Given the description of an element on the screen output the (x, y) to click on. 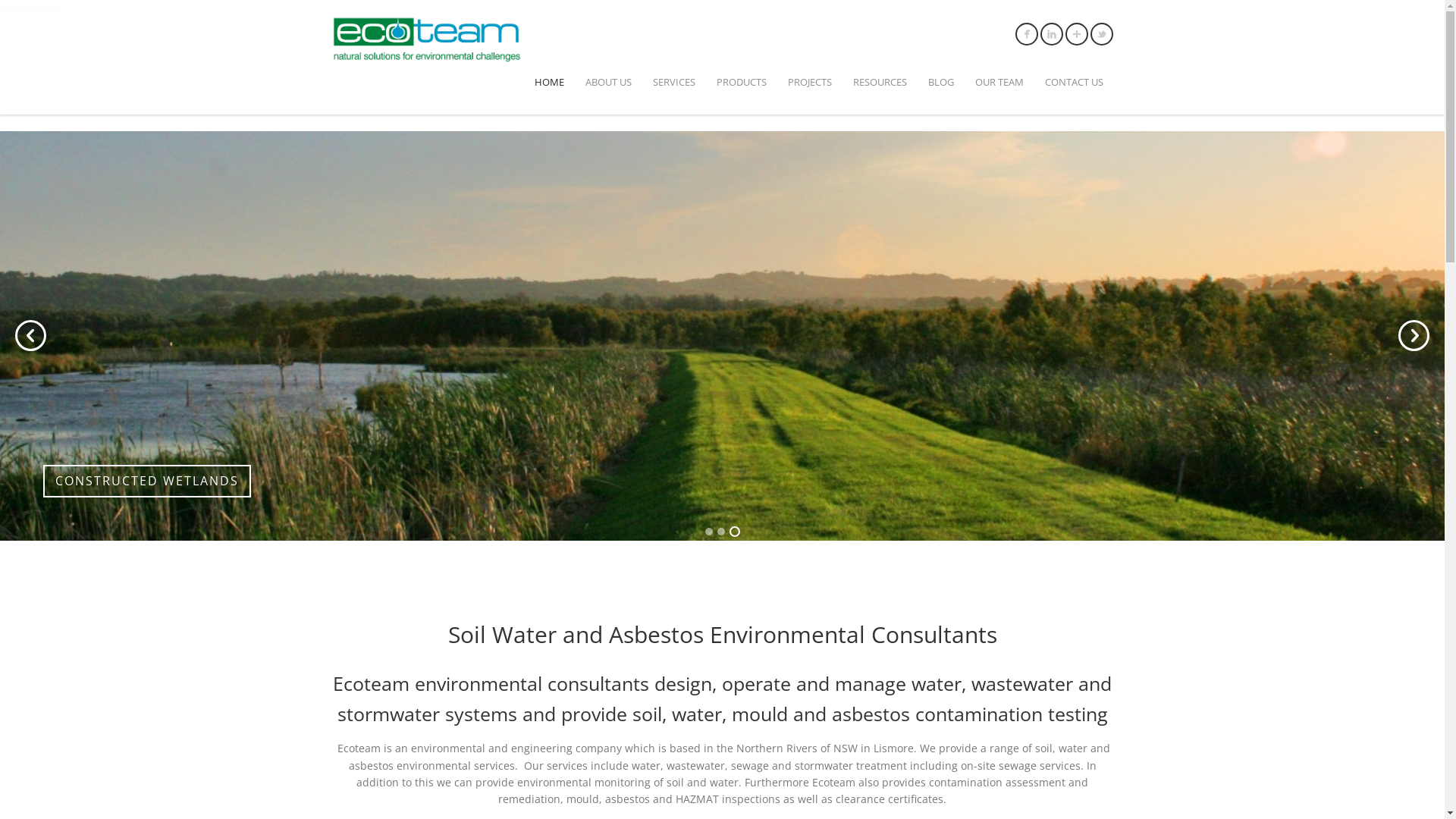
OUR TEAM Element type: text (999, 81)
ABOUT US Element type: text (608, 81)
BLOG Element type: text (940, 81)
CONTACT US Element type: text (1073, 81)
PRODUCTS Element type: text (740, 81)
PROJECTS Element type: text (808, 81)
SERVICES Element type: text (673, 81)
Facebook Element type: hover (1026, 33)
Google+ Element type: hover (1076, 33)
Twitter Element type: hover (1100, 33)
RESOURCES Element type: text (878, 81)
HOME Element type: text (548, 81)
LinkedIn Element type: hover (1050, 33)
